Given the description of an element on the screen output the (x, y) to click on. 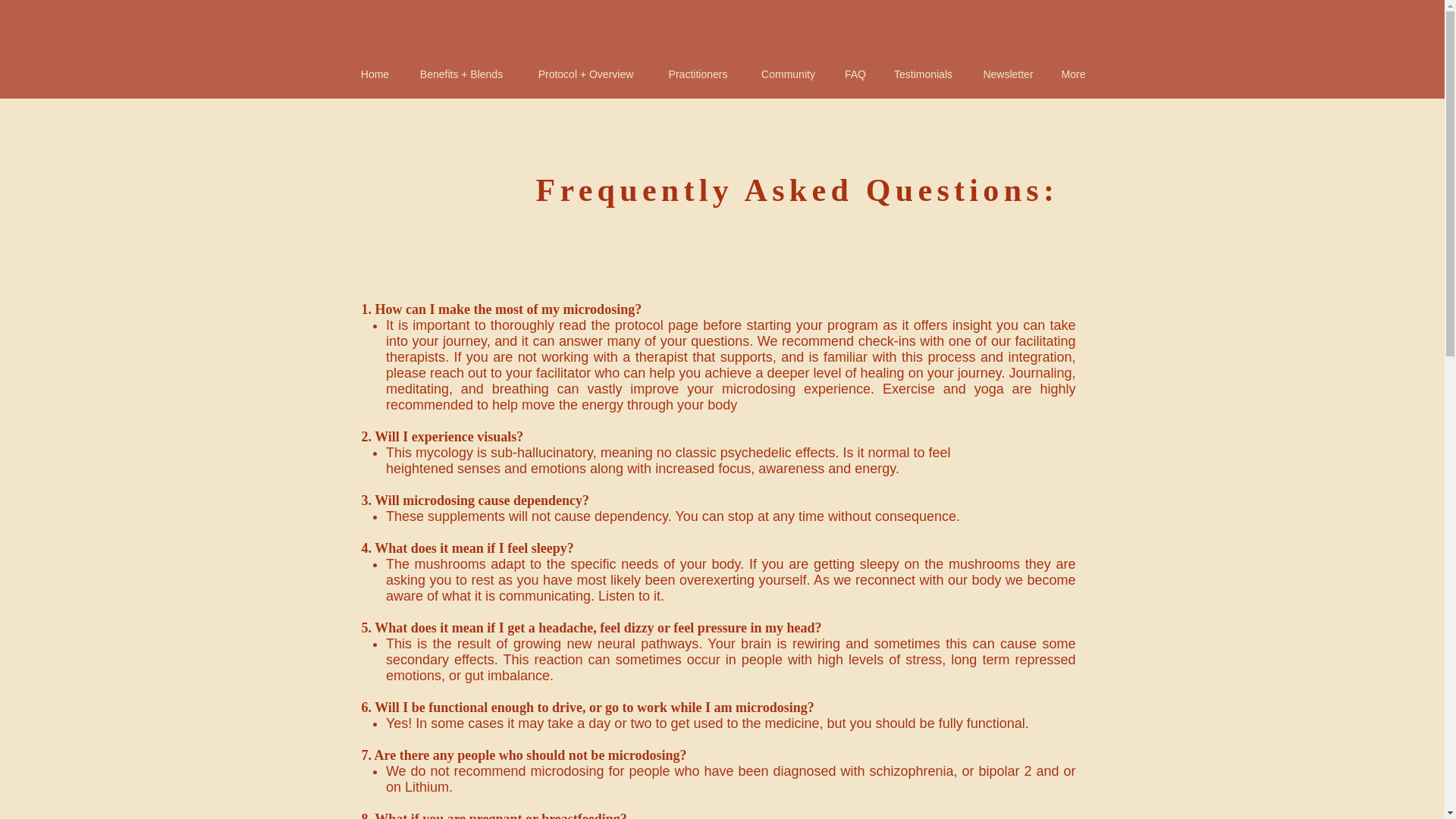
Practitioners (698, 74)
FAQ (855, 74)
Testimonials (922, 74)
Home (375, 74)
Newsletter (1008, 74)
